Given the description of an element on the screen output the (x, y) to click on. 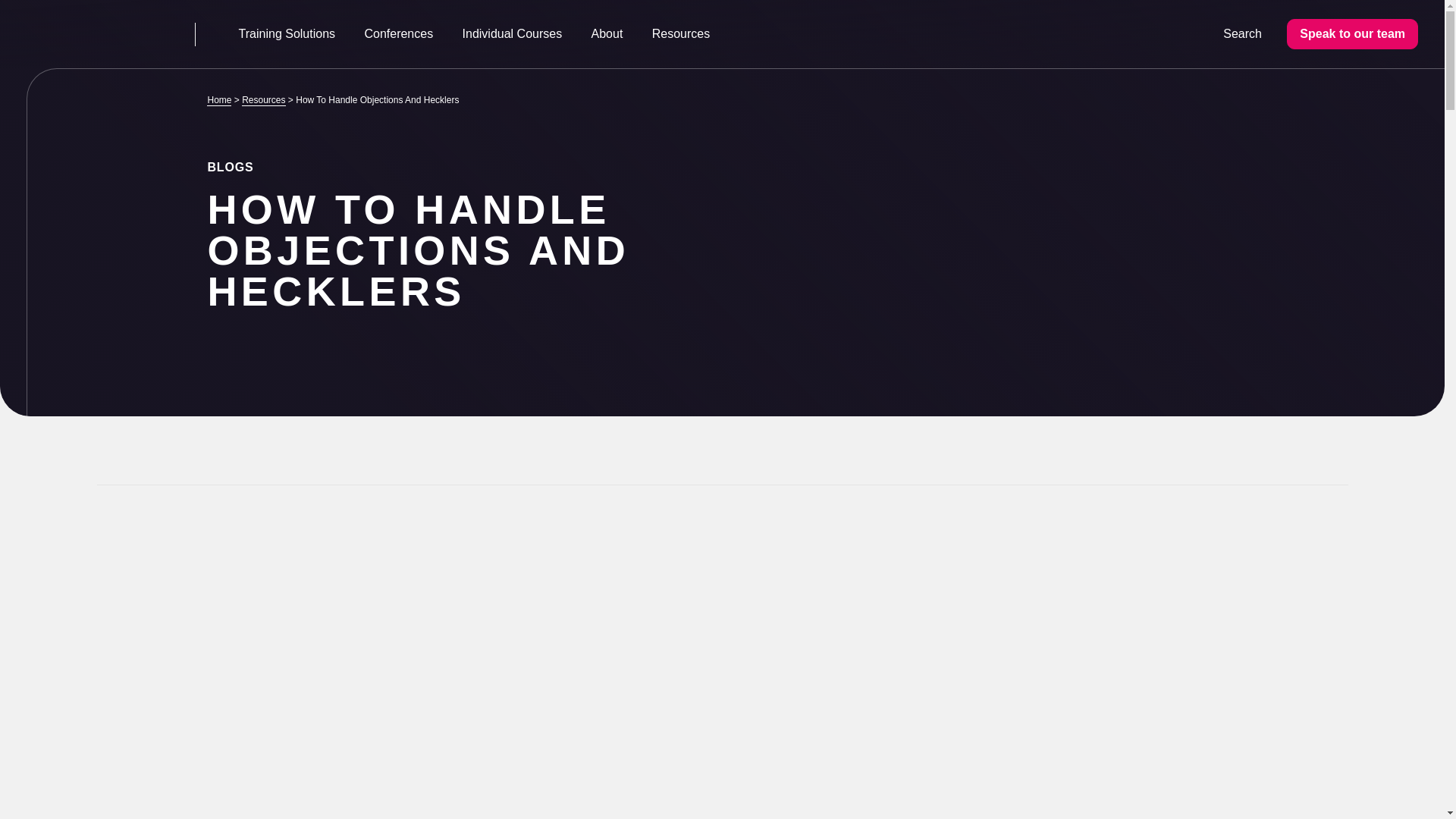
About (606, 33)
Body Talk (92, 33)
Individual Courses (511, 33)
Resources (681, 33)
Conferences (397, 33)
Home (218, 100)
Training Solutions (286, 33)
Resources (263, 100)
Speak to our team (1352, 33)
